Given the description of an element on the screen output the (x, y) to click on. 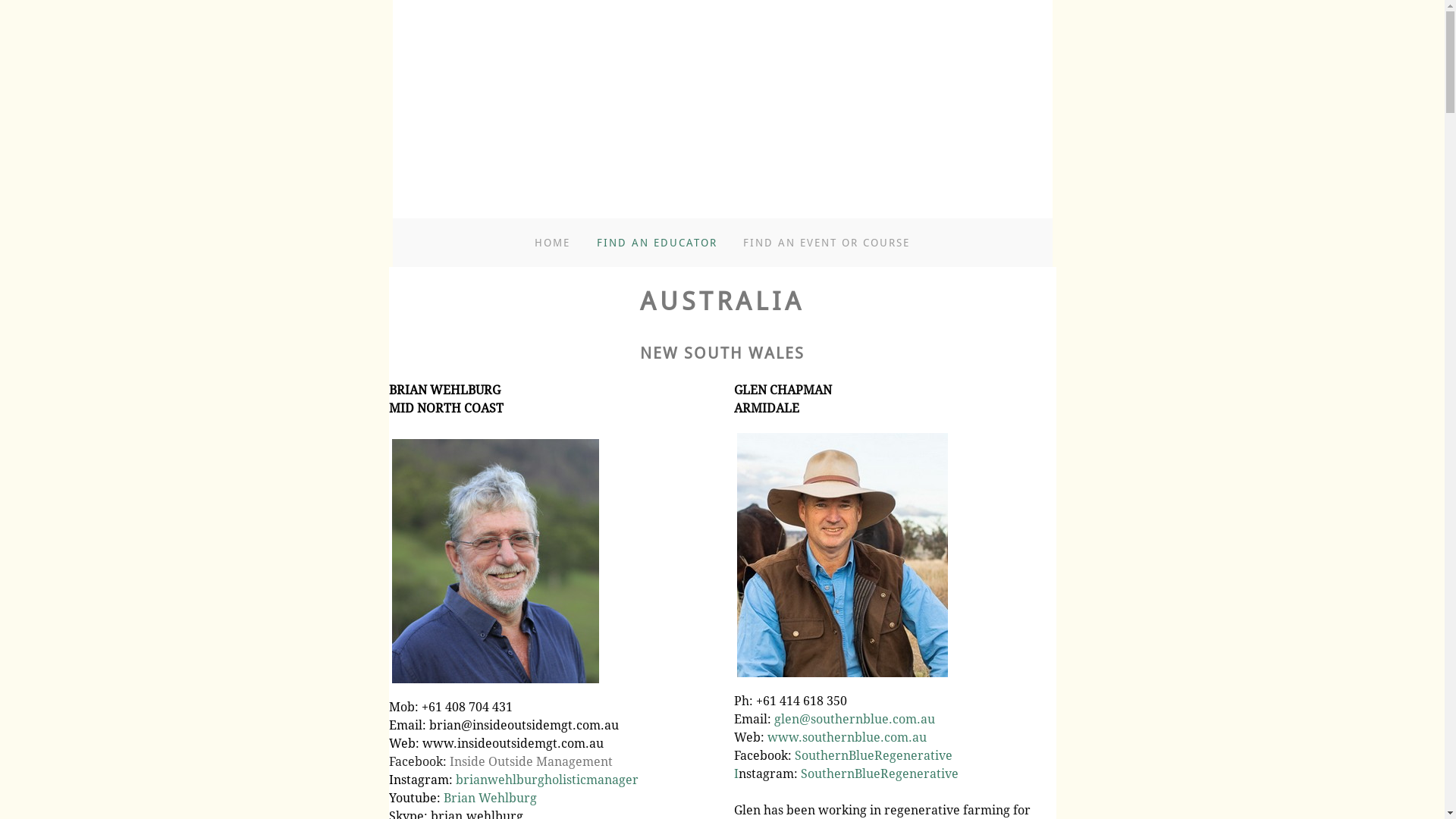
SouthernBlueRegenerative Element type: text (879, 773)
brianwehlburgholisticmanager Element type: text (546, 779)
I Element type: text (736, 773)
glen@southernblue.com.au Element type: text (853, 719)
SouthernBlueRegenerative Element type: text (873, 755)
www.insideoutsidemgt.com.au Element type: text (511, 743)
HOME Element type: text (552, 242)
brian@insideoutsidemgt.com.au Element type: text (523, 725)
Inside Outside Management Element type: text (529, 761)
Brian Wehlburg Element type: text (489, 797)
FIND AN EDUCATOR Element type: text (656, 242)
FIND AN EVENT OR COURSE Element type: text (826, 242)
 www.southernblue.com.au Element type: text (845, 737)
